Given the description of an element on the screen output the (x, y) to click on. 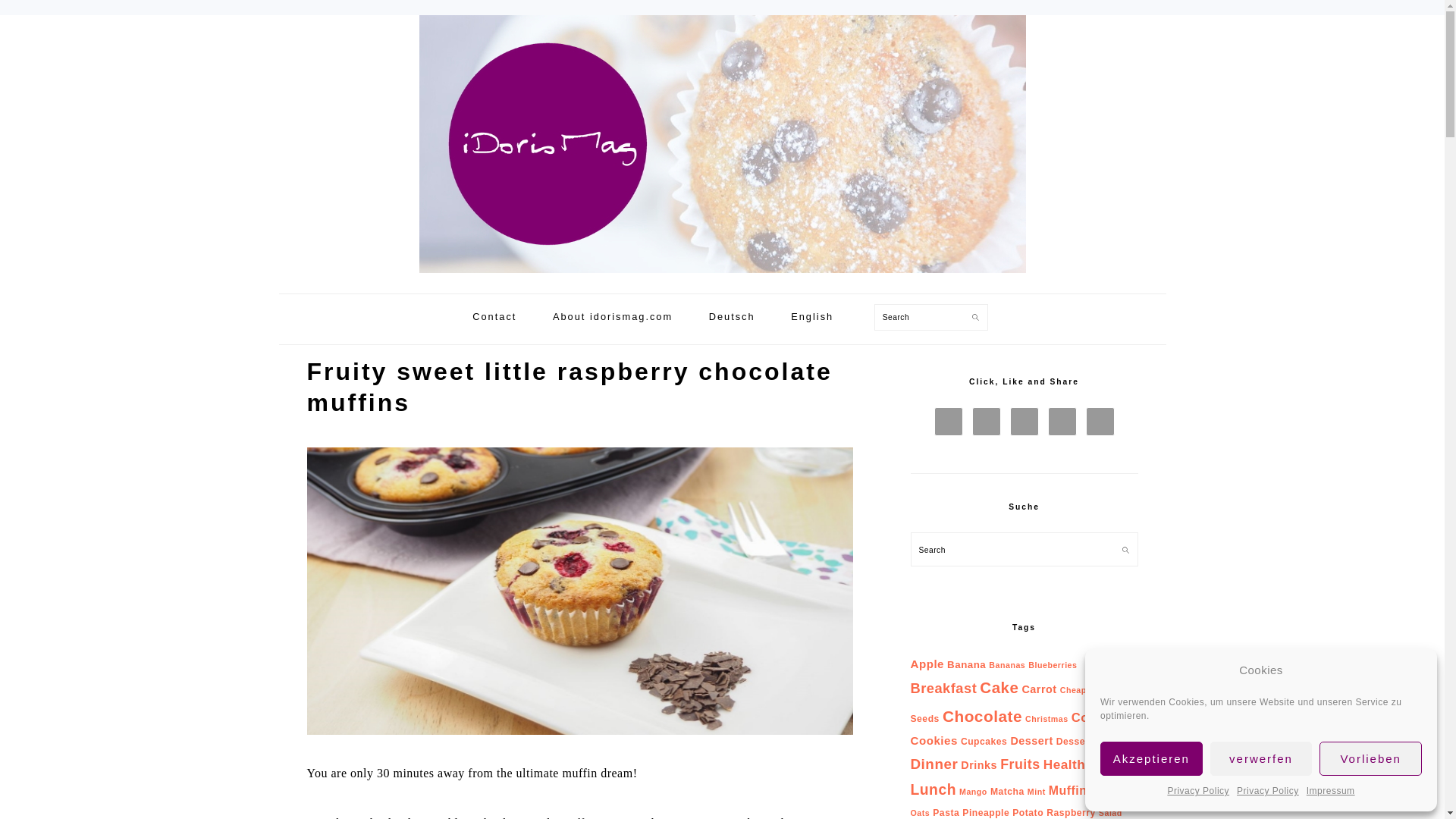
Carrot (1039, 689)
Privacy Policy (1197, 791)
Akzeptieren (1151, 758)
idorismag - Vegan! (722, 276)
Banana (966, 664)
Breakfast (943, 688)
Contact (494, 319)
Deutsch (732, 319)
Impressum (1330, 791)
verwerfen (1261, 758)
Vorlieben (1370, 758)
Cheap (1072, 689)
